Given the description of an element on the screen output the (x, y) to click on. 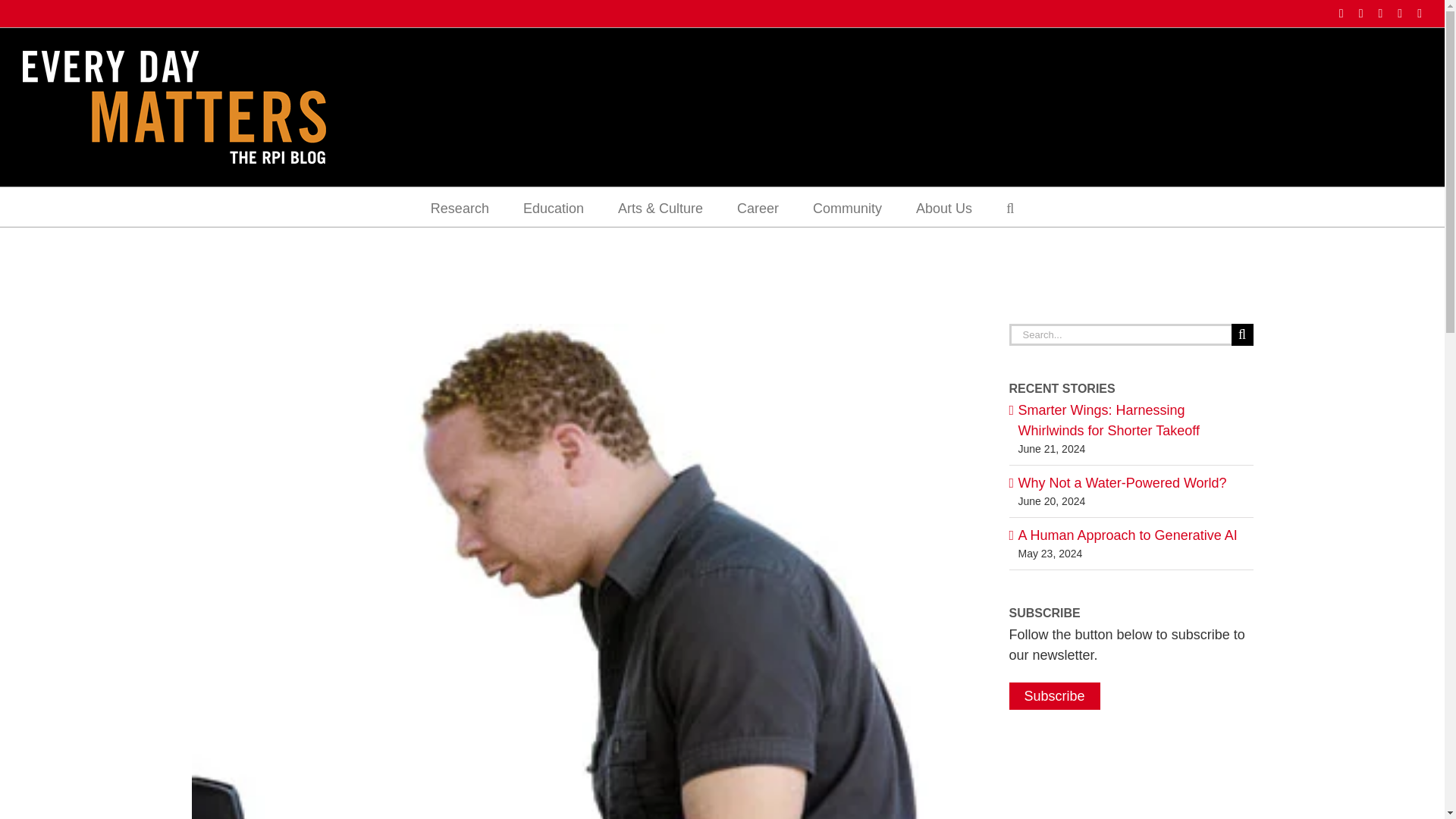
Career (757, 206)
Search (1009, 206)
YouTube (1419, 13)
Research (459, 206)
Instagram (1360, 13)
LinkedIn (1379, 13)
Community (847, 206)
Education (552, 206)
Facebook (1341, 13)
X (1399, 13)
About Us (943, 206)
